Given the description of an element on the screen output the (x, y) to click on. 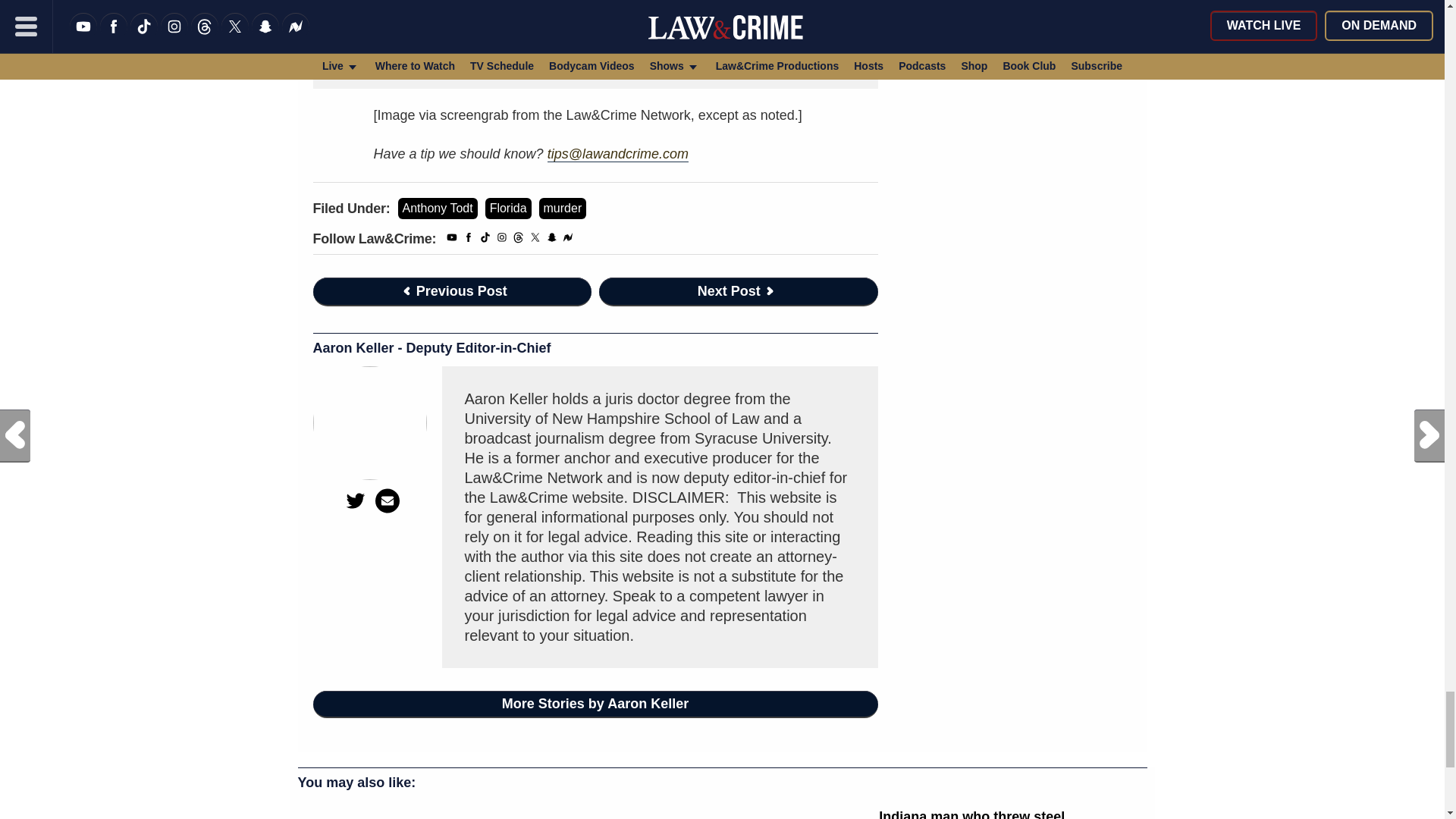
YouTube (451, 239)
